Given the description of an element on the screen output the (x, y) to click on. 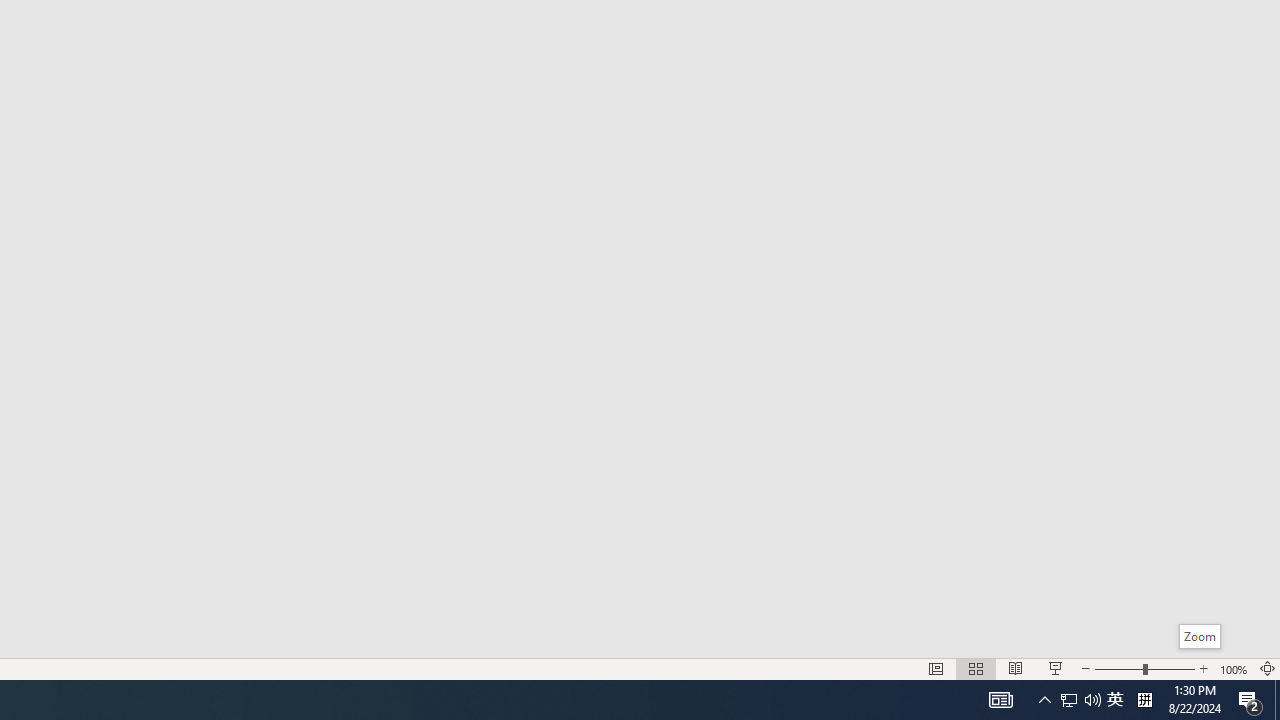
Zoom 100% (1234, 668)
